Given the description of an element on the screen output the (x, y) to click on. 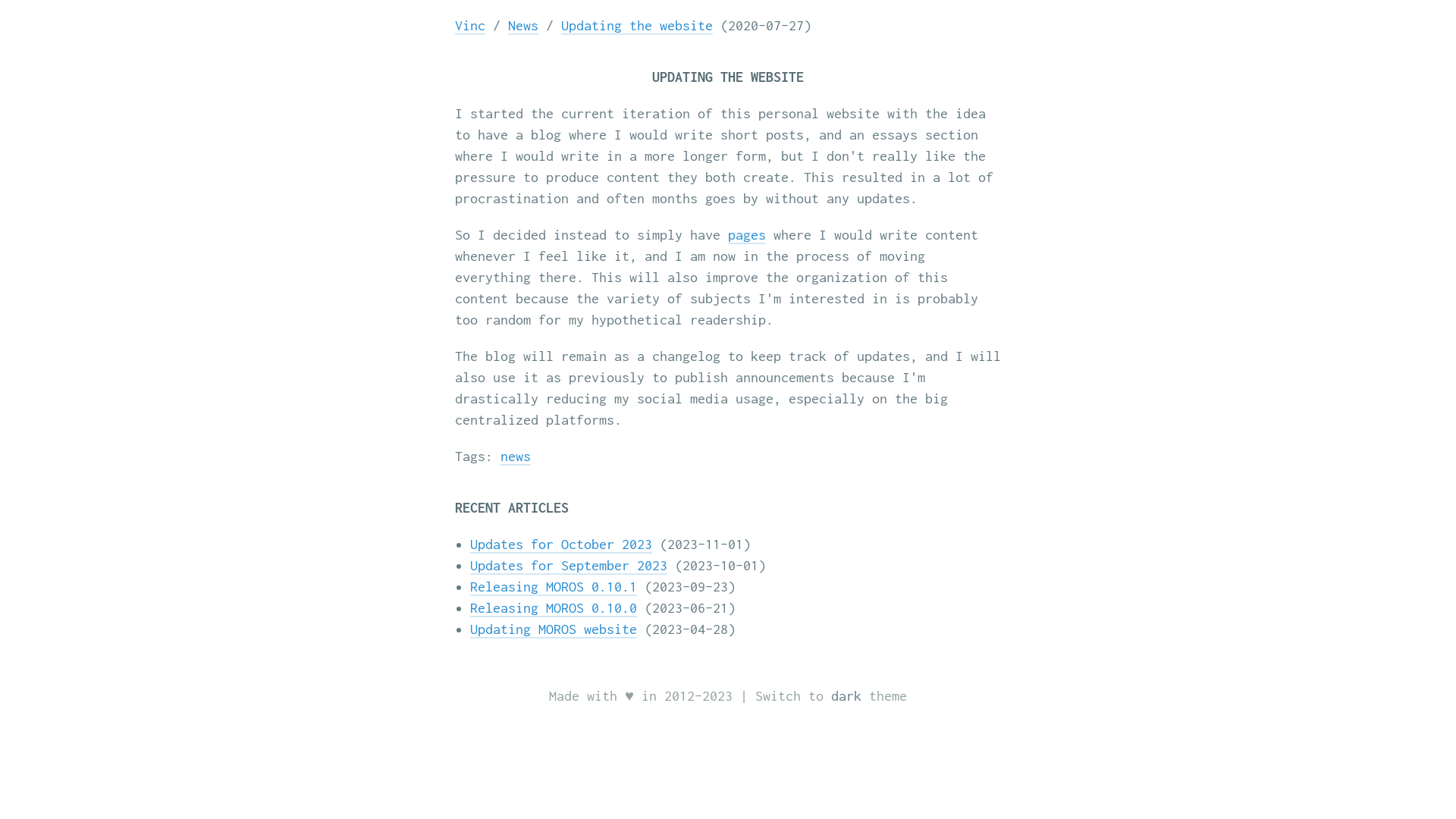
Releasing MOROS 0.10.0 Element type: text (553, 608)
Updating MOROS website Element type: text (553, 629)
Releasing MOROS 0.10.1 Element type: text (553, 587)
Updates for October 2023 Element type: text (561, 544)
news Element type: text (515, 456)
Updating the website Element type: text (636, 25)
pages Element type: text (746, 235)
News Element type: text (523, 25)
Updates for September 2023 Element type: text (568, 565)
dark Element type: text (846, 695)
Vinc Element type: text (470, 25)
